Given the description of an element on the screen output the (x, y) to click on. 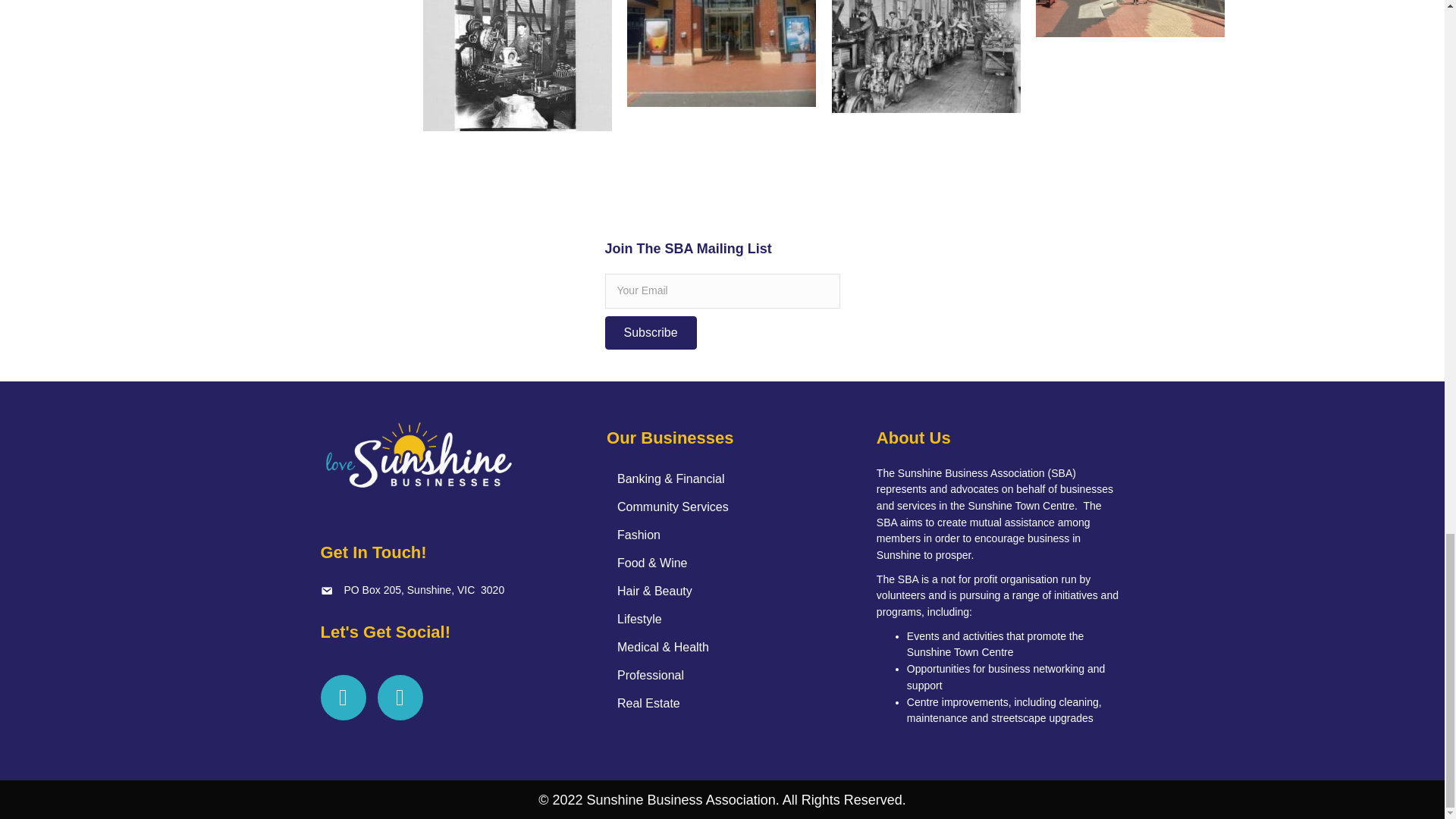
PO Box 205, Sunshine, VIC  3020 (424, 590)
Facebook (342, 697)
Subscribe (651, 332)
Instagram (400, 697)
